Given the description of an element on the screen output the (x, y) to click on. 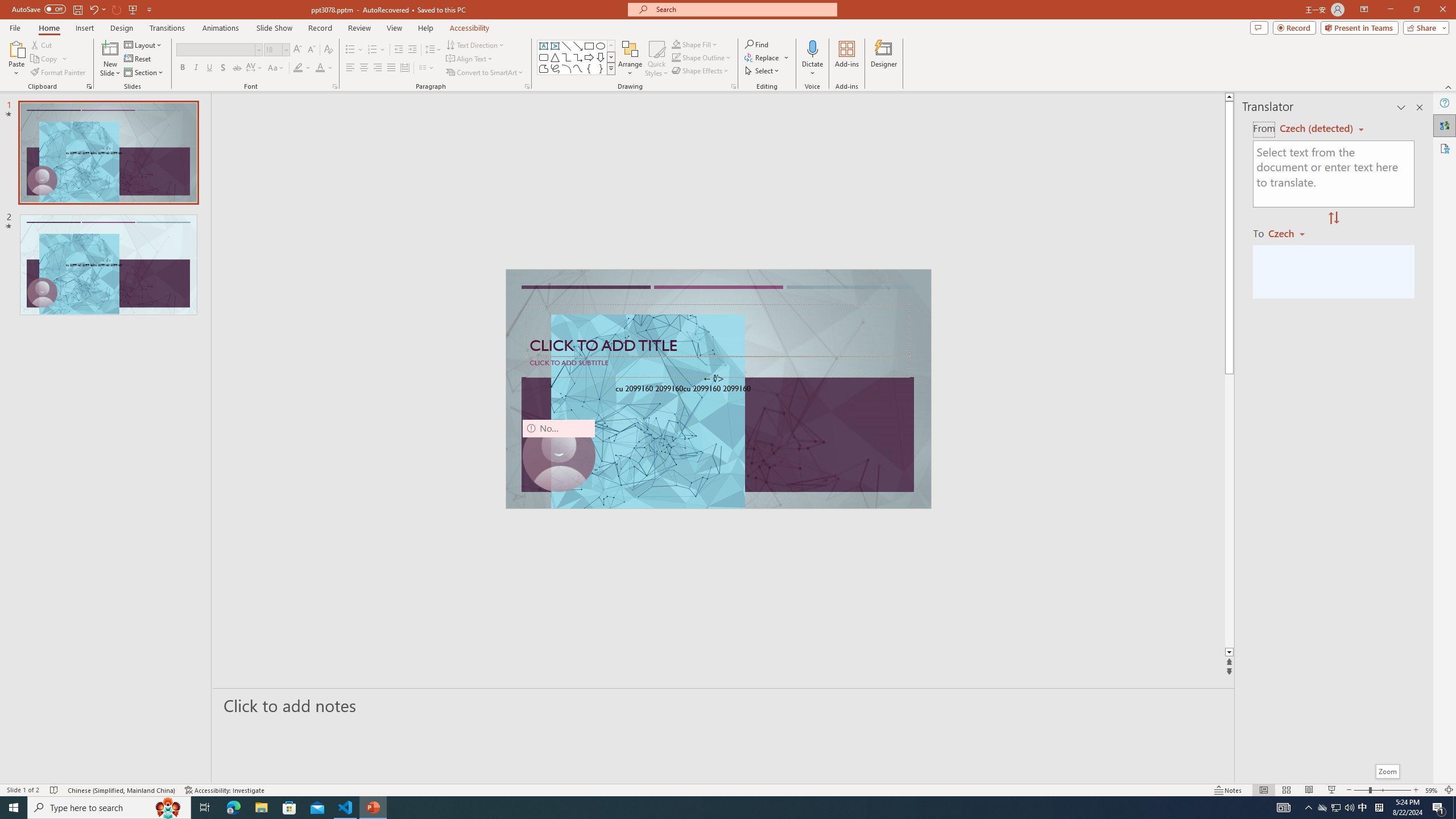
Zoom 59% (1431, 790)
Shape Effects (700, 69)
